Given the description of an element on the screen output the (x, y) to click on. 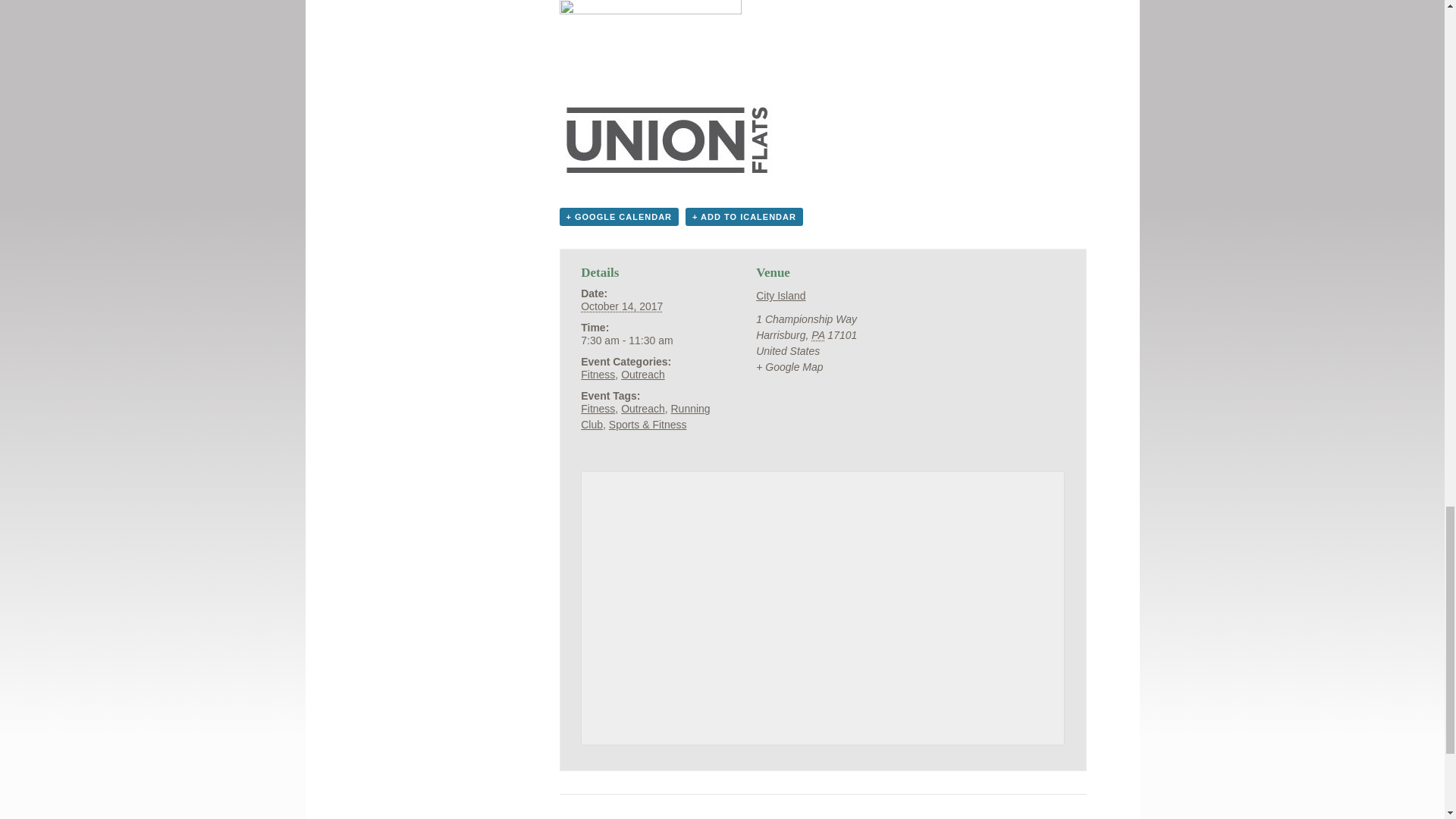
Add to Google Calendar (619, 217)
Click to view a Google Map (788, 367)
2017-10-14 (621, 306)
Download .ics file (744, 217)
Pennsylvania (817, 335)
2017-10-14 (647, 340)
